Given the description of an element on the screen output the (x, y) to click on. 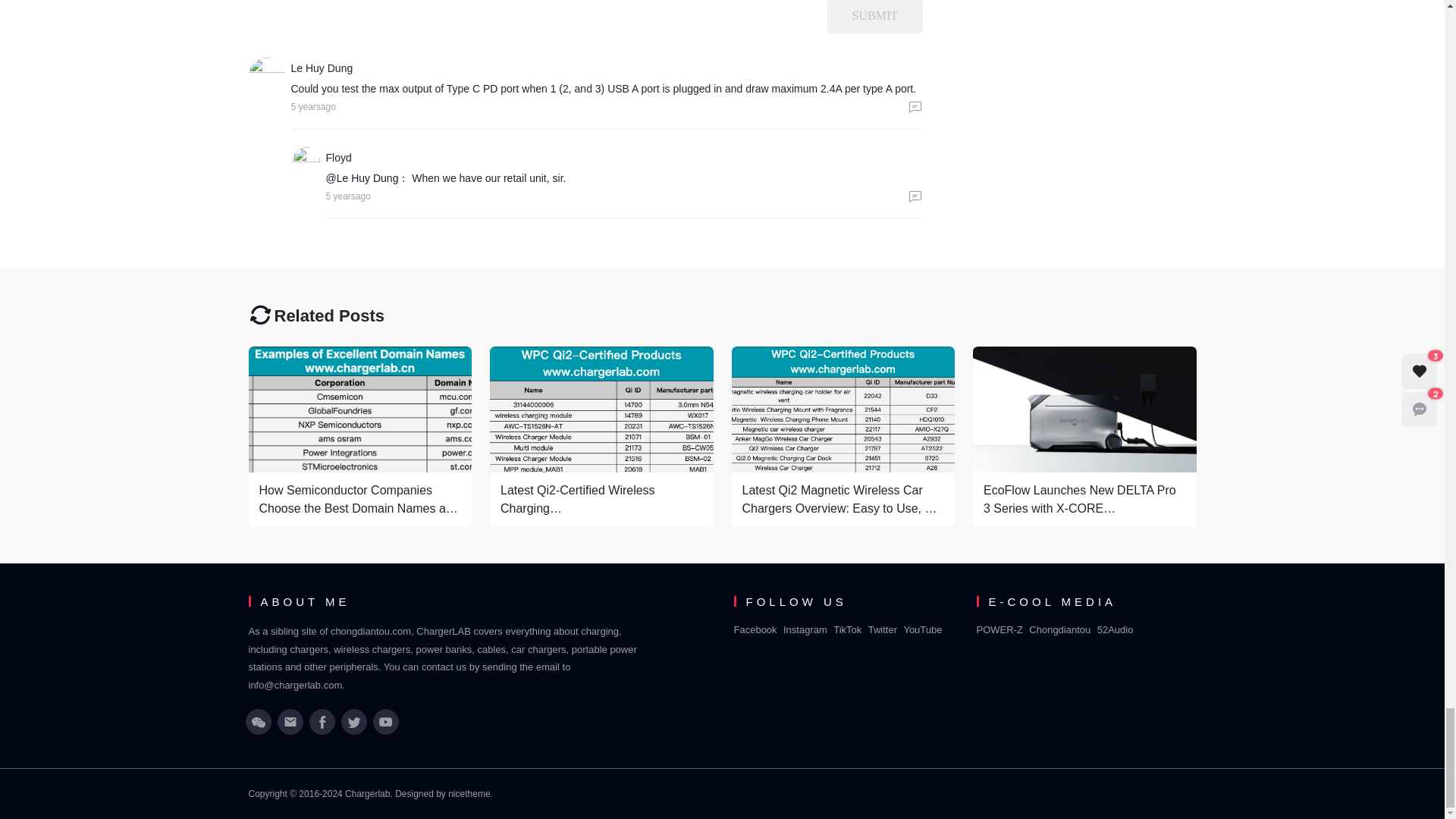
Submit (875, 16)
